Given the description of an element on the screen output the (x, y) to click on. 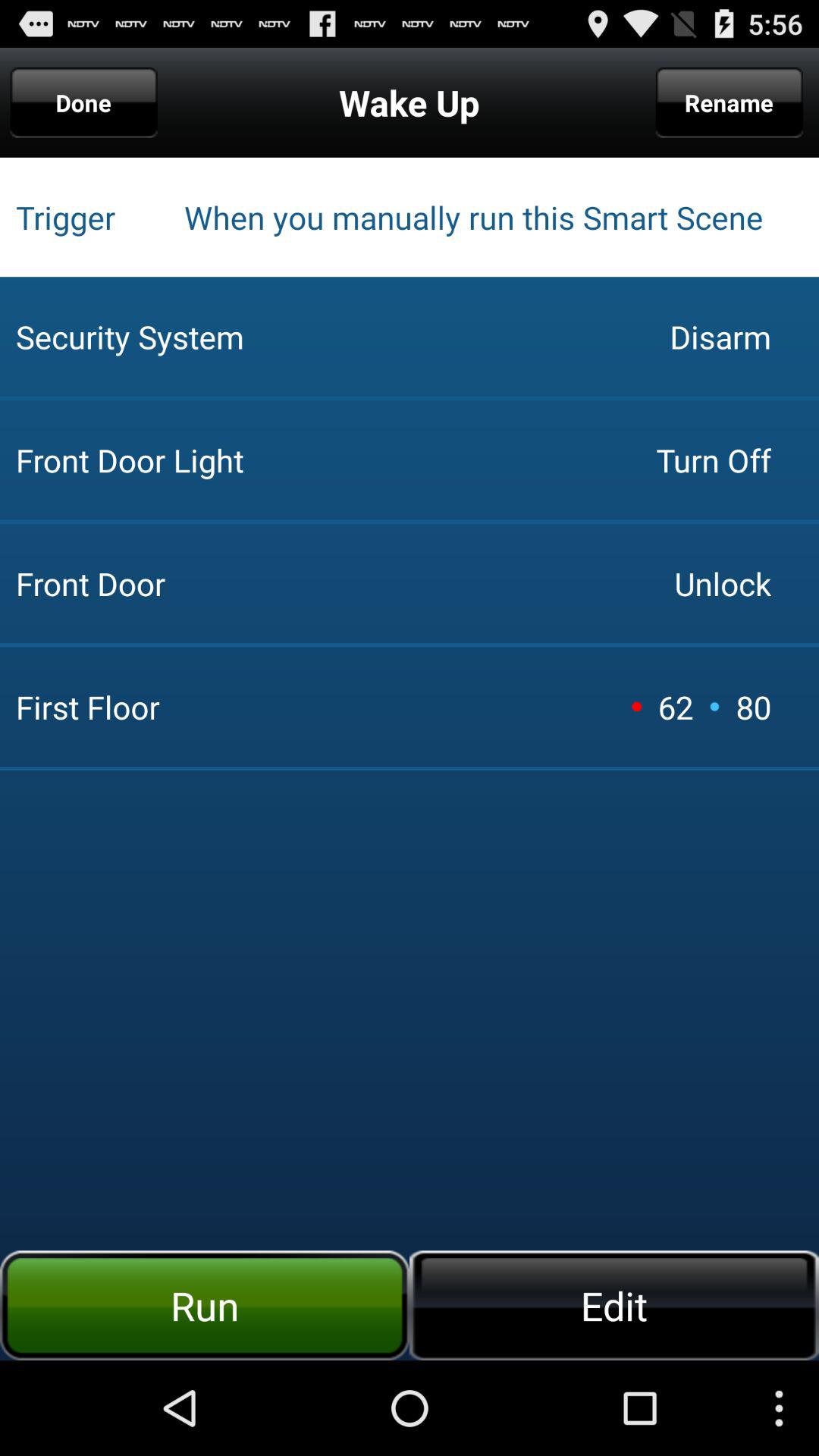
turn on app next to the 80 (714, 706)
